Given the description of an element on the screen output the (x, y) to click on. 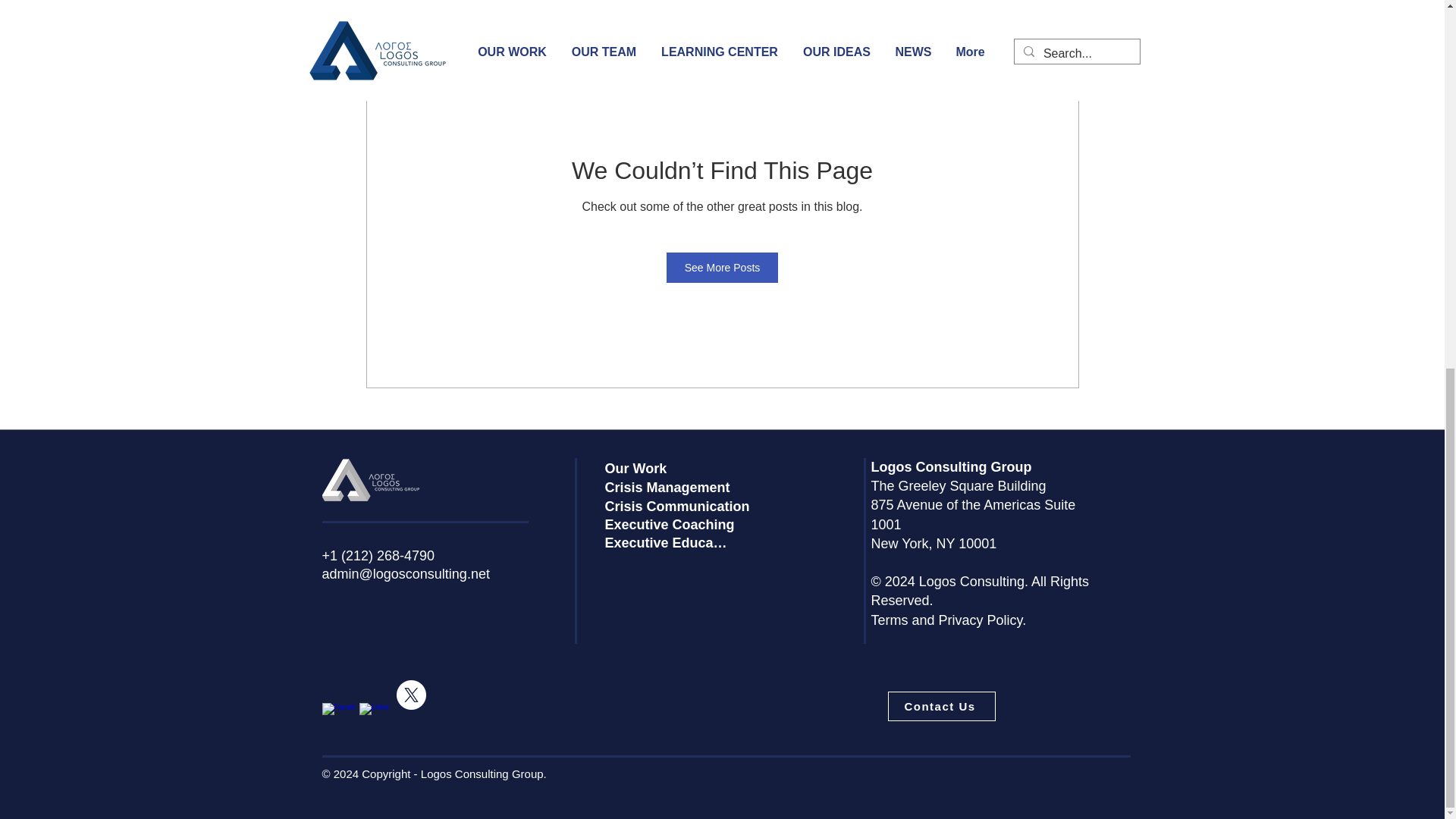
Conferences (557, 16)
See More Posts (722, 267)
Blog (385, 16)
Executive Coaching (673, 524)
All Posts (324, 16)
Our Work (640, 468)
Logos Consulting White.png (370, 479)
Crisis Communication (680, 506)
Crisis Communication (922, 16)
Crises (826, 16)
COVID-19 (639, 16)
Crisis Management (737, 16)
Communication (461, 16)
Crisis Management (673, 487)
Guest Columns (1038, 16)
